Given the description of an element on the screen output the (x, y) to click on. 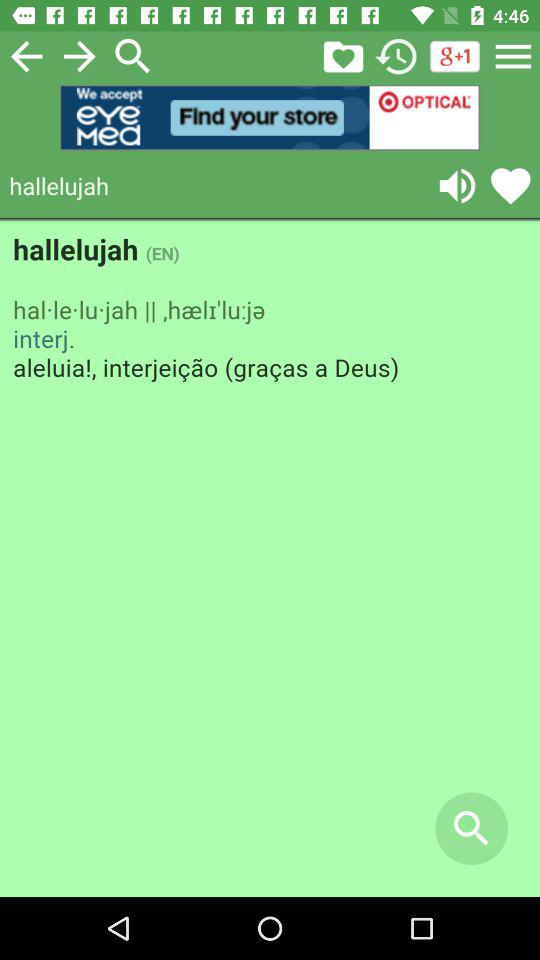
go next (79, 56)
